Given the description of an element on the screen output the (x, y) to click on. 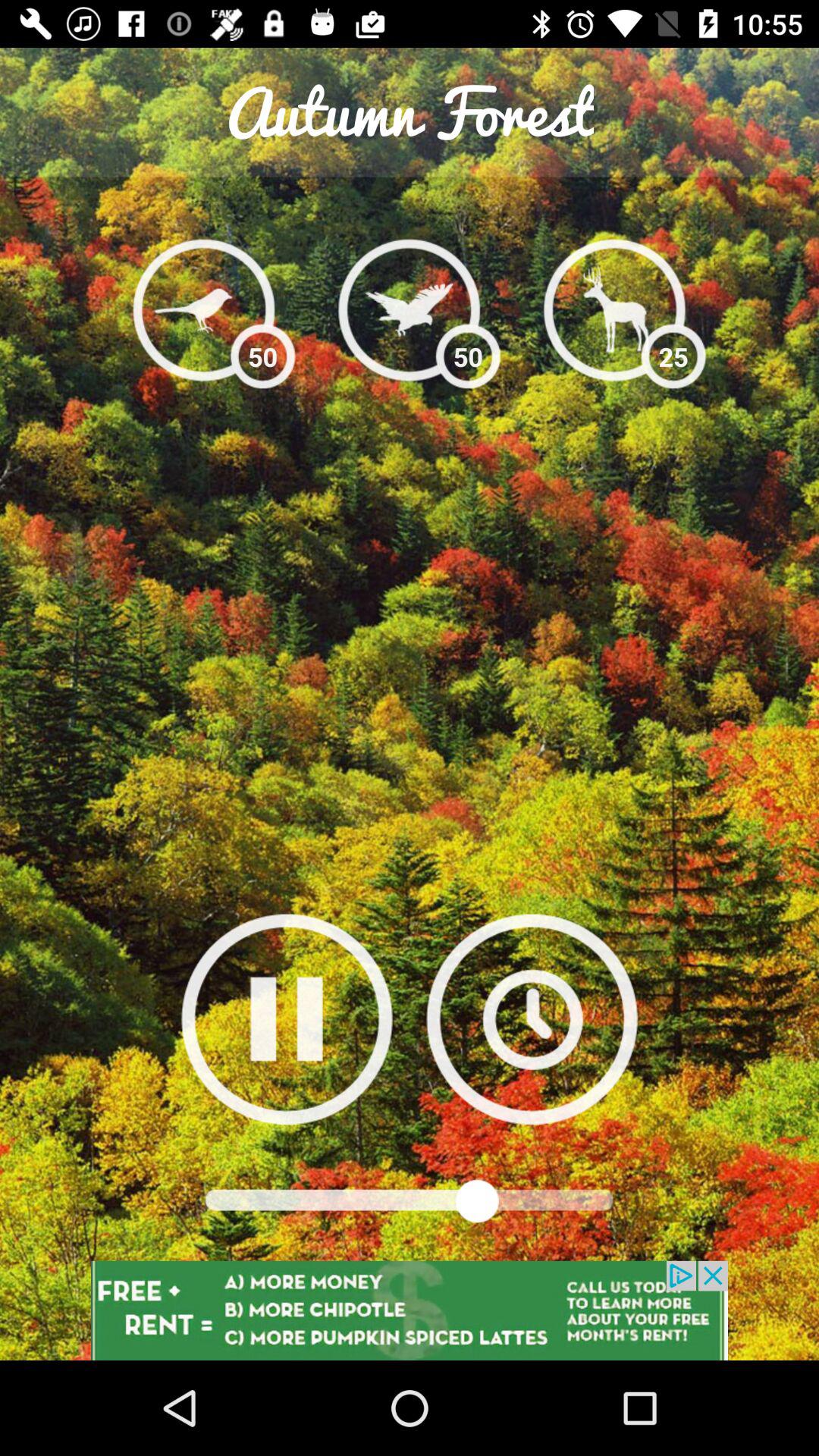
click on free rent icon (409, 1310)
